Given the description of an element on the screen output the (x, y) to click on. 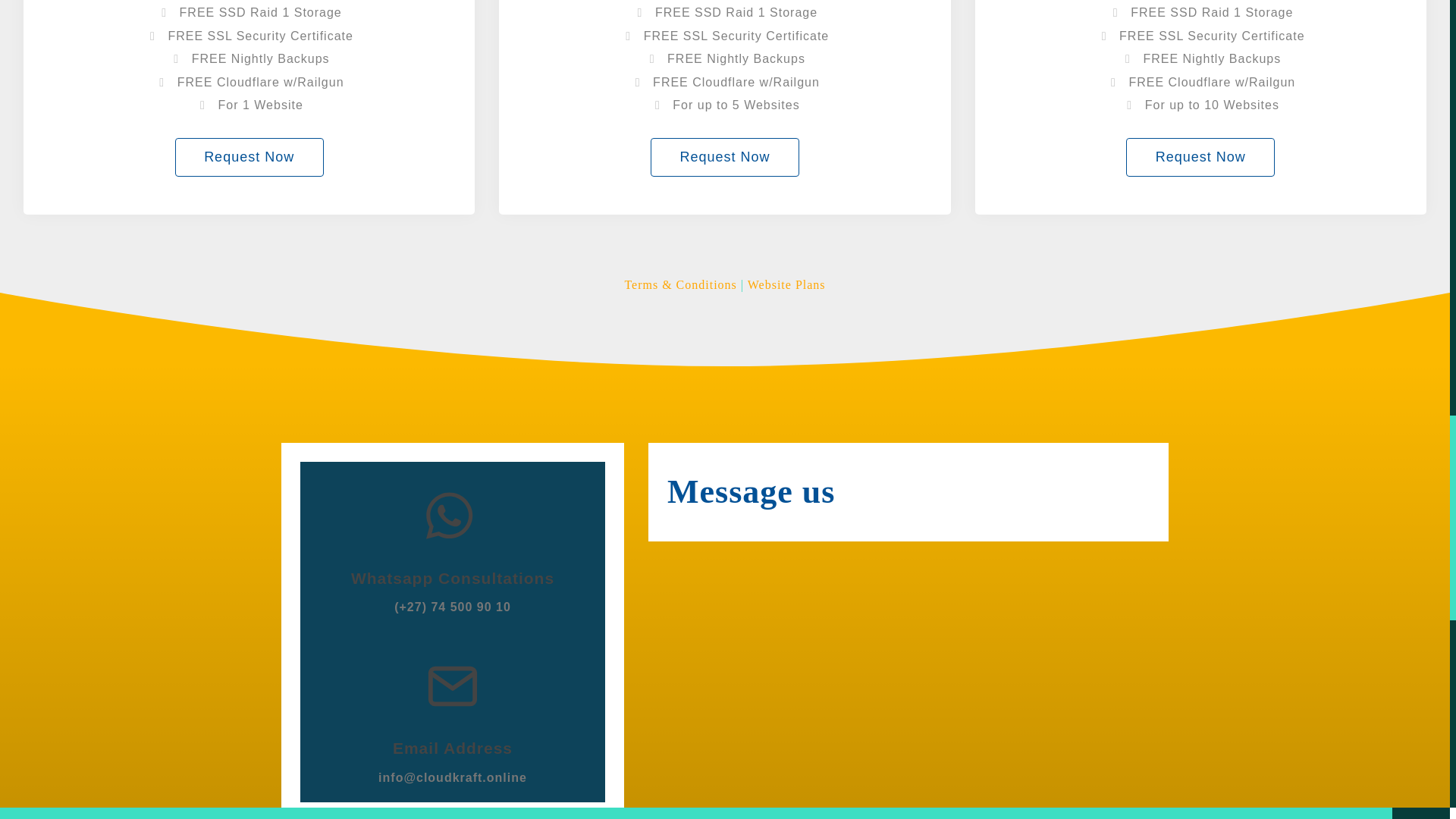
Request Now (248, 157)
Website Plans (786, 284)
Request Now (724, 157)
Request Now (1200, 157)
